Given the description of an element on the screen output the (x, y) to click on. 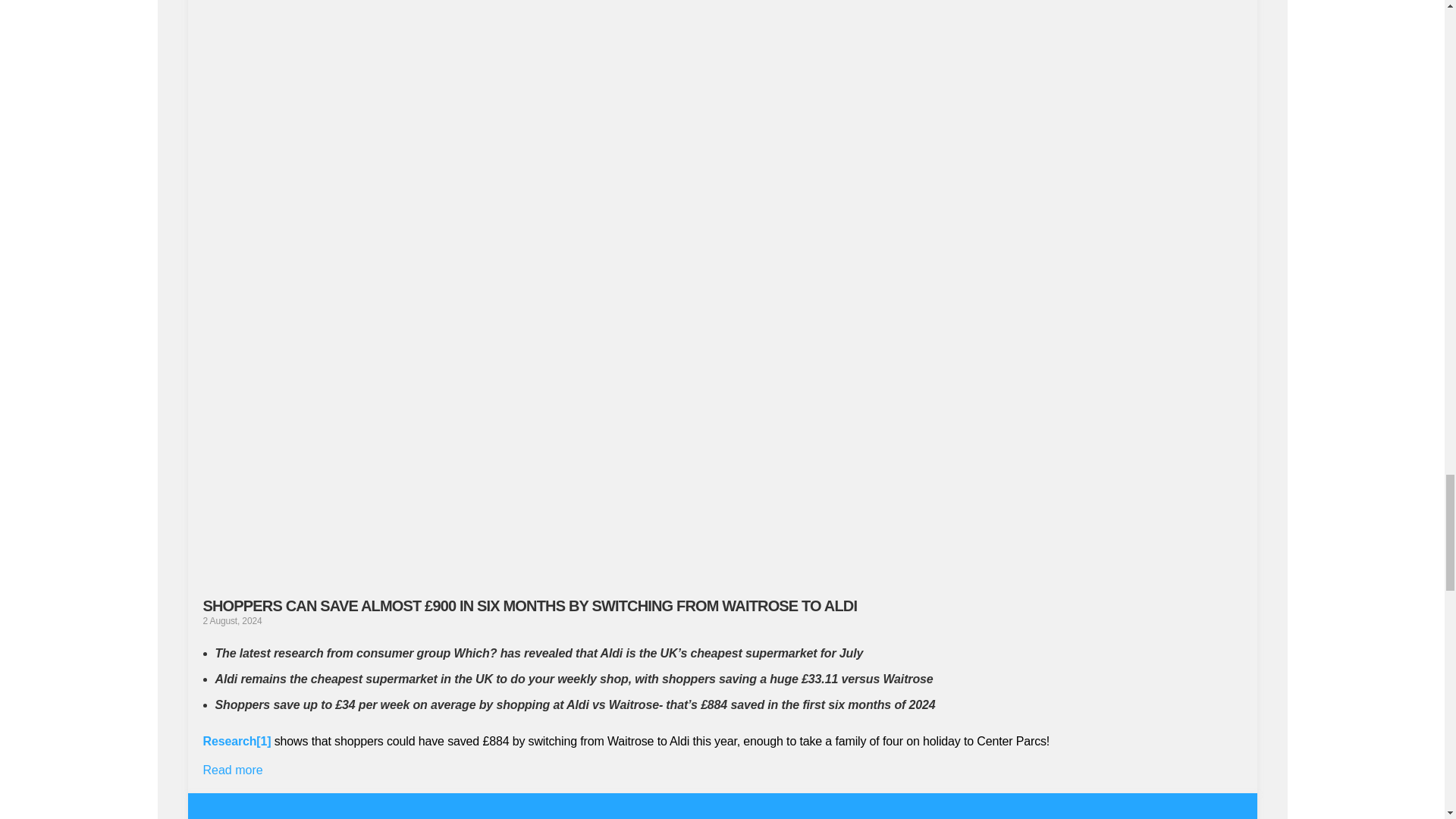
Research (230, 740)
